Given the description of an element on the screen output the (x, y) to click on. 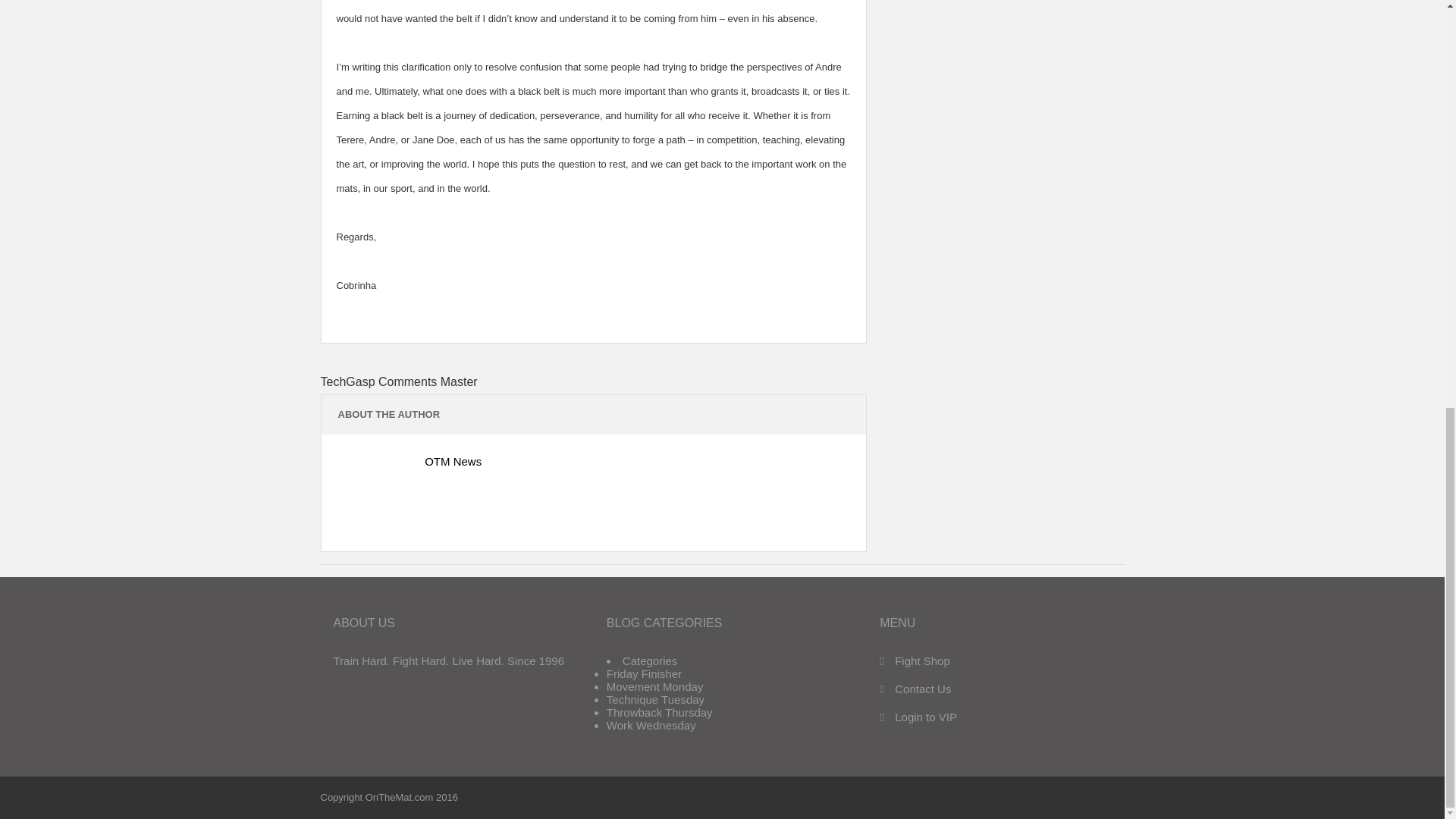
Movement Monday (655, 686)
Friday Finisher (644, 673)
Technique Tuesday (655, 698)
